Given the description of an element on the screen output the (x, y) to click on. 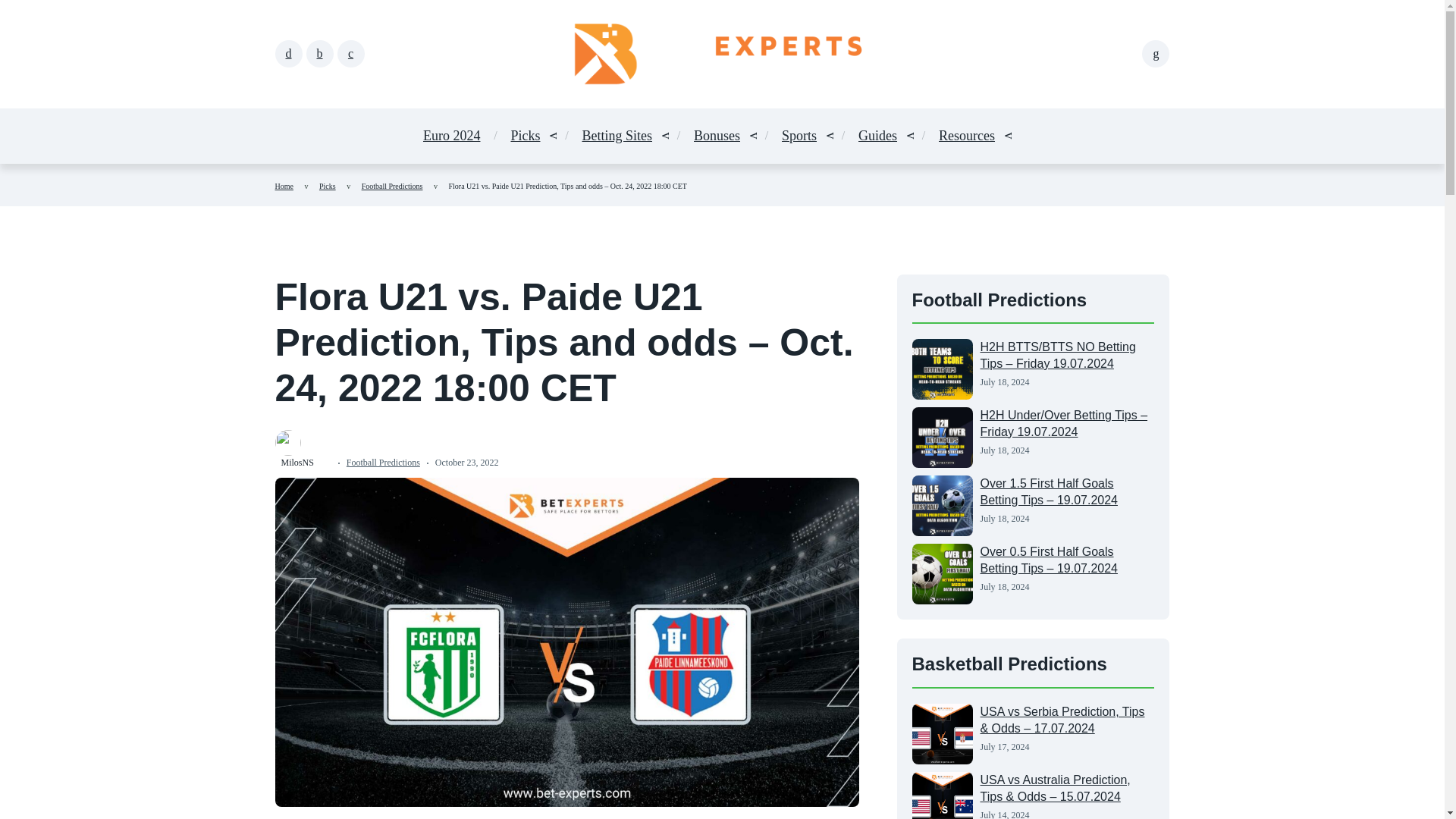
Football Predictions (392, 185)
Betting Sites (616, 136)
Picks (525, 136)
Home (283, 185)
Euro 2024 (451, 136)
Picks (327, 185)
